Given the description of an element on the screen output the (x, y) to click on. 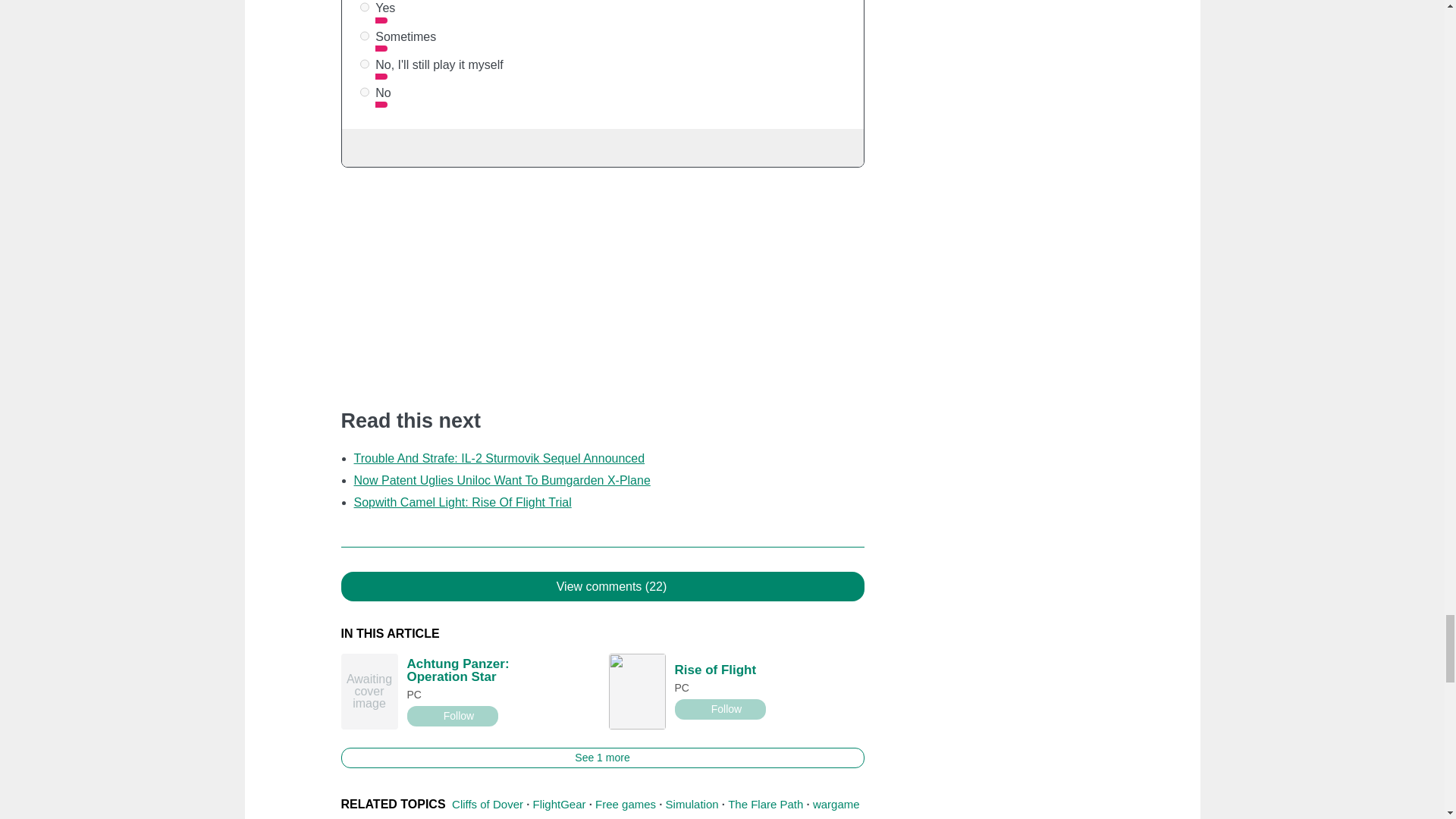
on (364, 35)
on (364, 91)
on (364, 63)
on (364, 7)
